Given the description of an element on the screen output the (x, y) to click on. 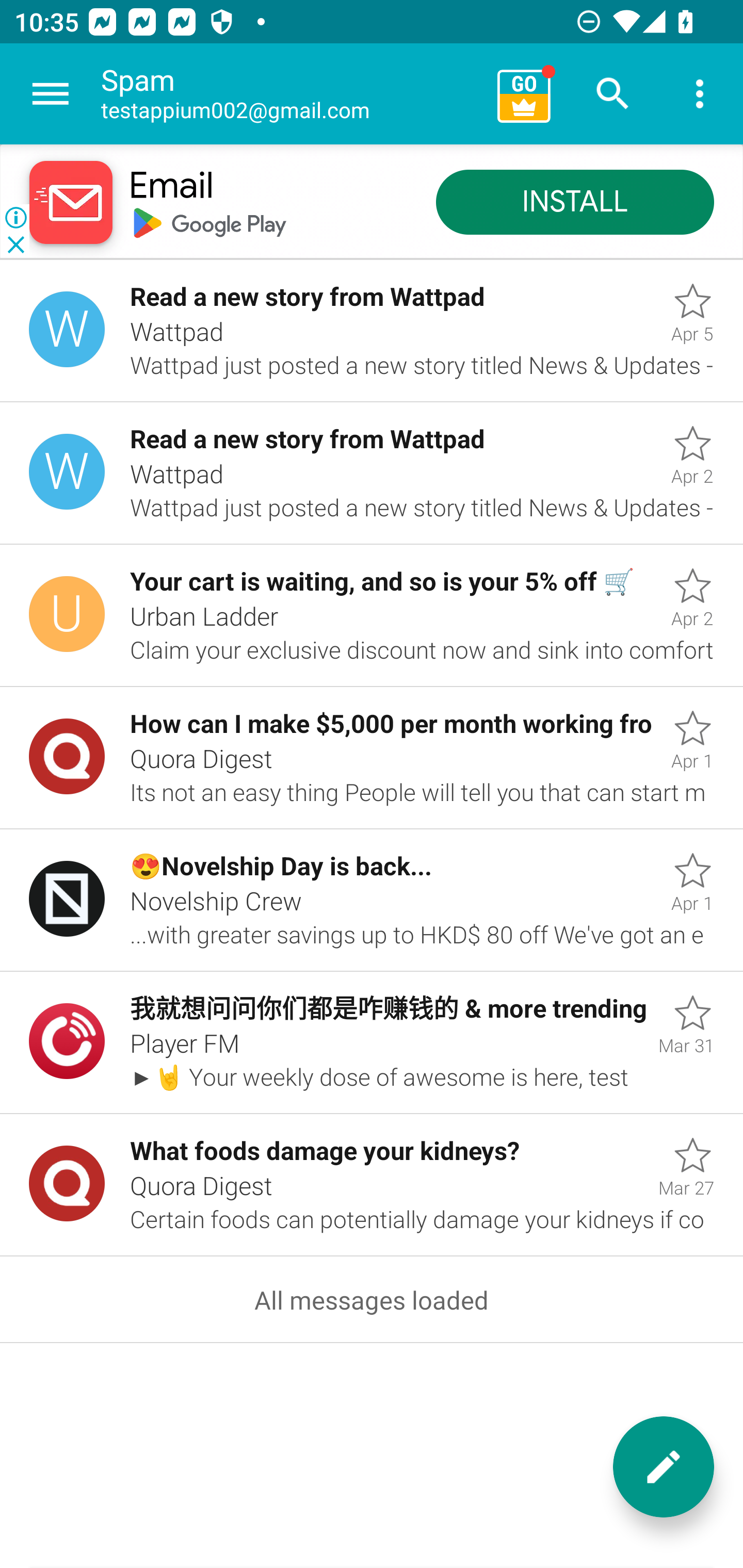
Navigate up (50, 93)
Spam testappium002@gmail.com (291, 93)
Search (612, 93)
More options (699, 93)
Email (171, 186)
INSTALL (575, 202)
All messages loaded (371, 1299)
New message (663, 1466)
